Given the description of an element on the screen output the (x, y) to click on. 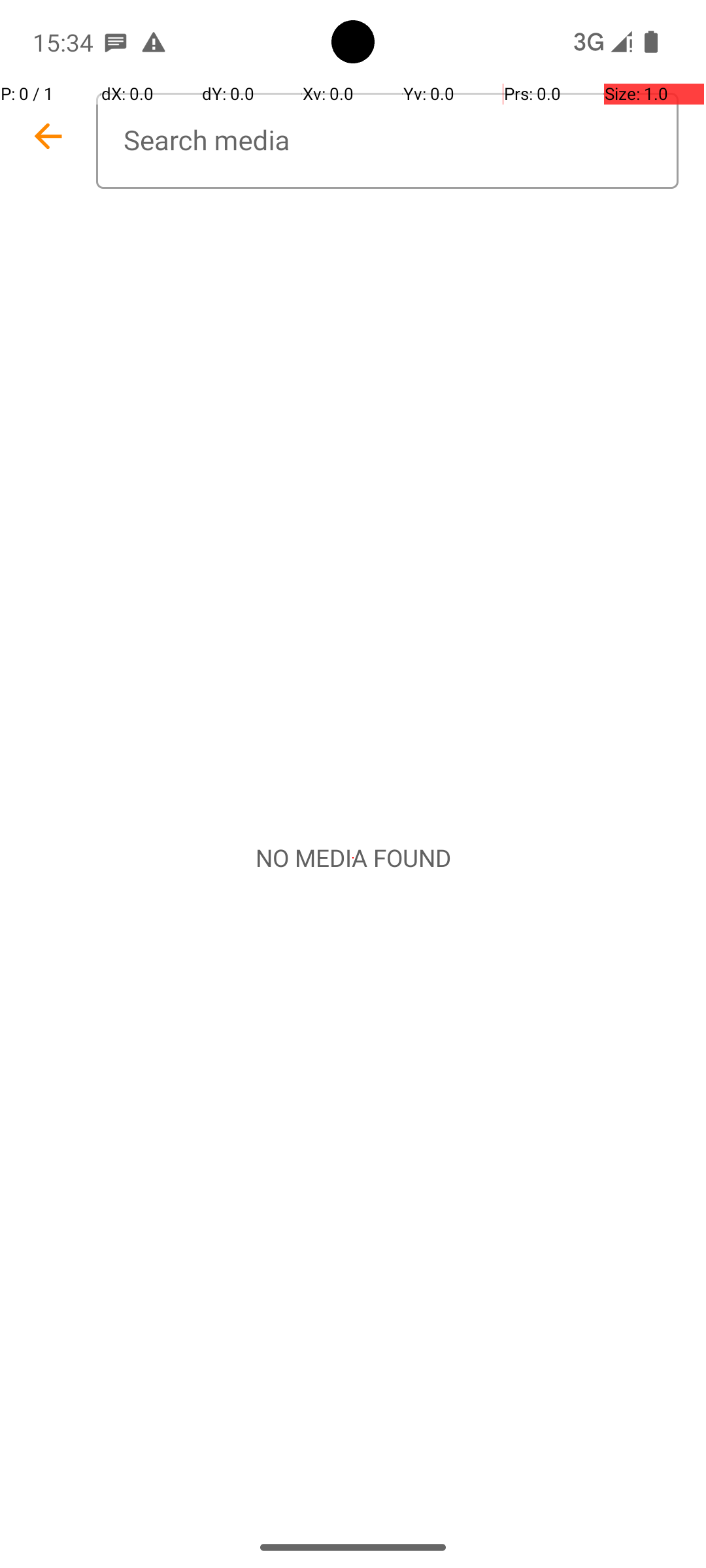
Search media Element type: android.widget.EditText (387, 140)
NO MEDIA FOUND Element type: android.widget.TextView (353, 857)
